Given the description of an element on the screen output the (x, y) to click on. 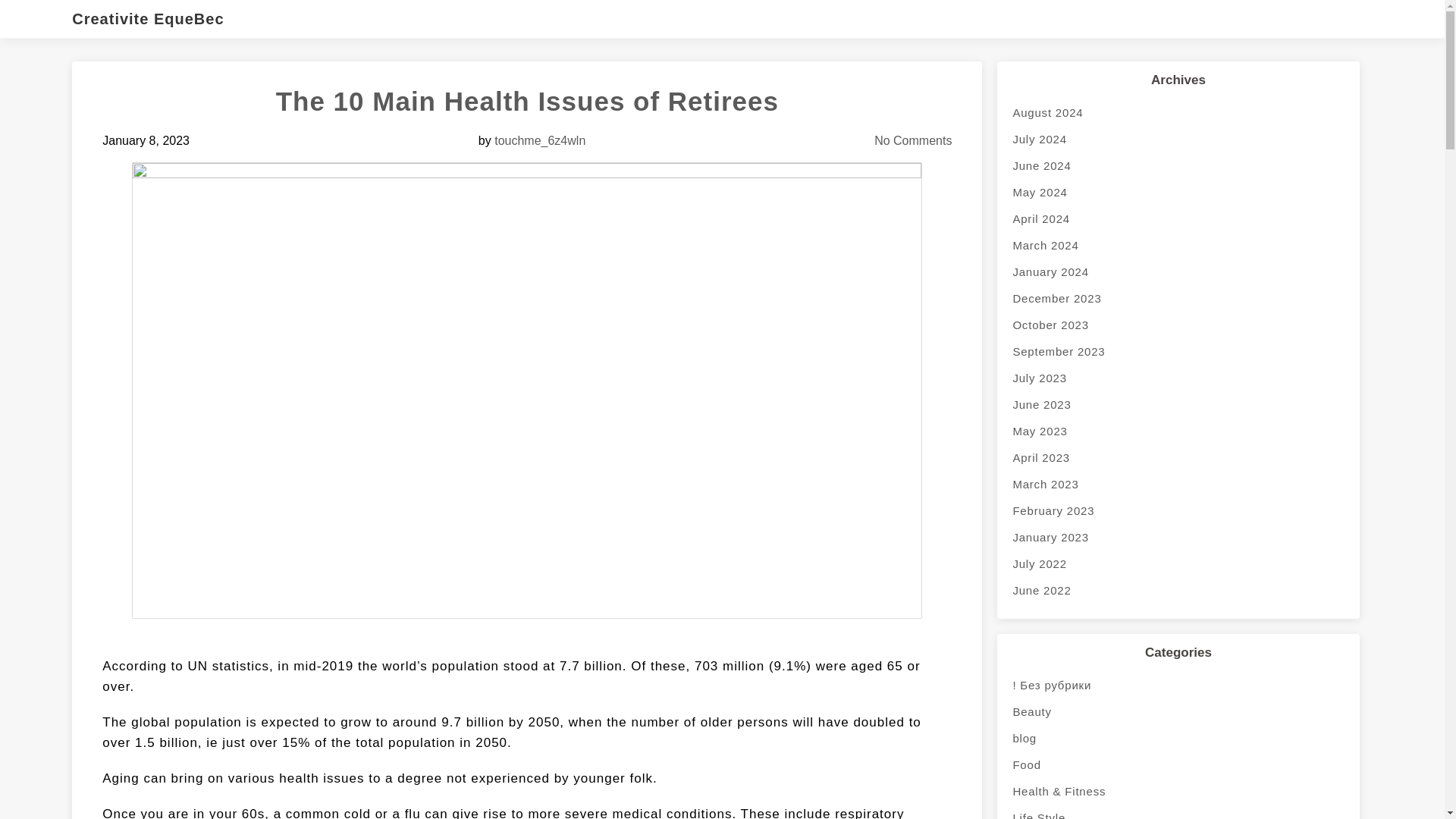
July 2023 (1177, 377)
March 2023 (1177, 483)
Life Style (1177, 811)
June 2024 (1177, 165)
January 2024 (1177, 271)
July 2022 (1177, 563)
September 2023 (1177, 351)
Food (1177, 764)
February 2023 (1177, 510)
June 2023 (1177, 404)
